Given the description of an element on the screen output the (x, y) to click on. 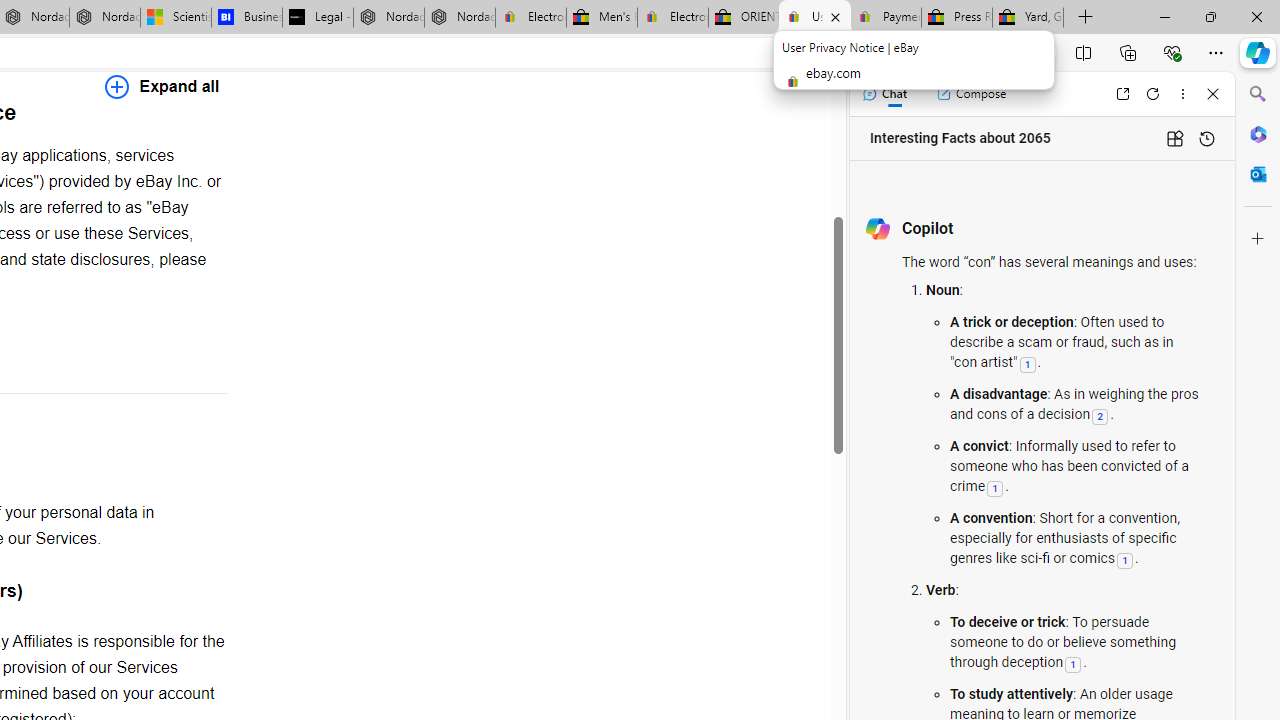
Yard, Garden & Outdoor Living (1028, 17)
User Privacy Notice | eBay (814, 17)
Expand all (162, 86)
